Given the description of an element on the screen output the (x, y) to click on. 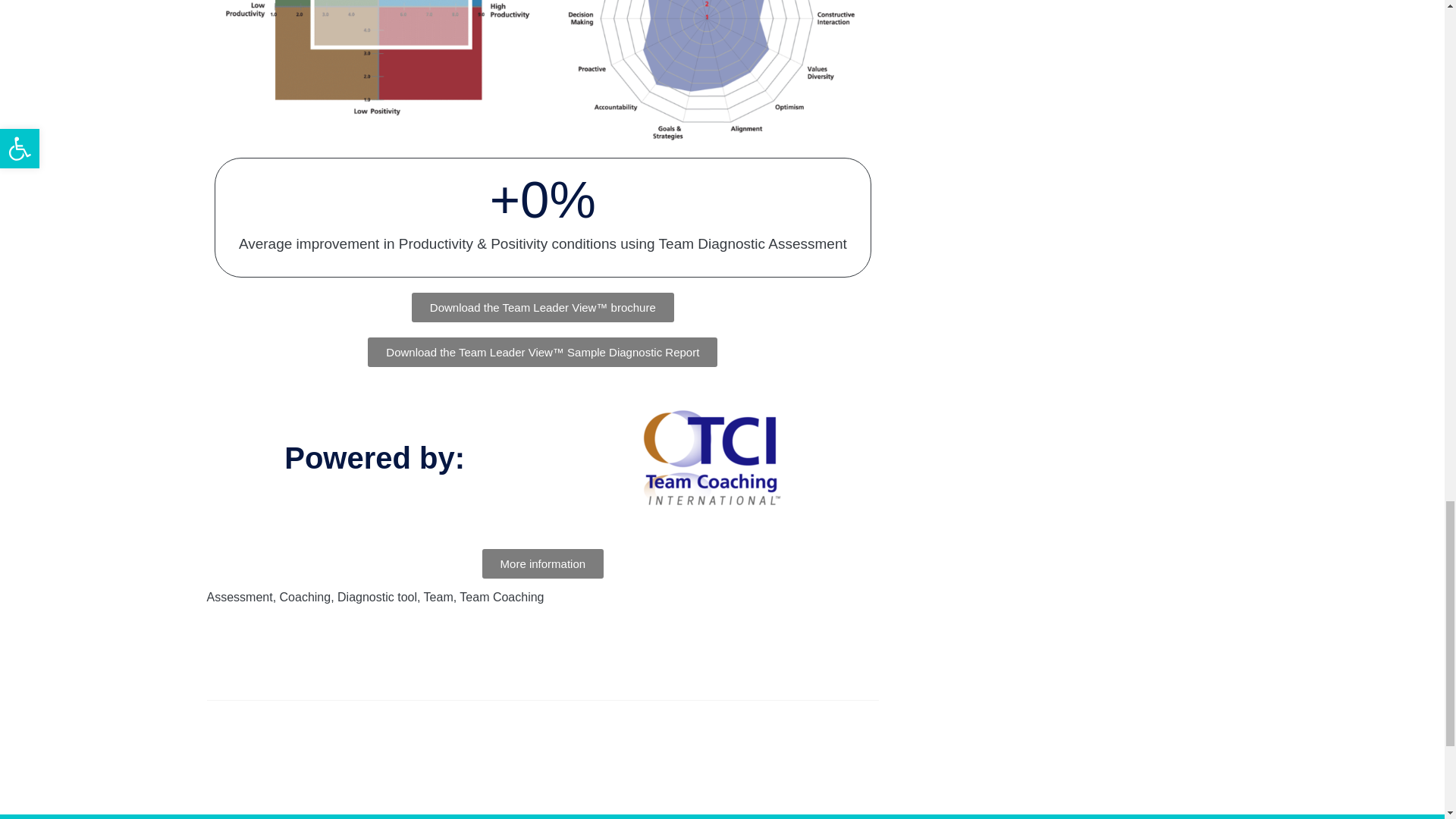
Team Coaching (501, 596)
Coaching (305, 596)
Team (437, 596)
Diagnostic tool (376, 596)
More information (542, 563)
Assessment (239, 596)
